Given the description of an element on the screen output the (x, y) to click on. 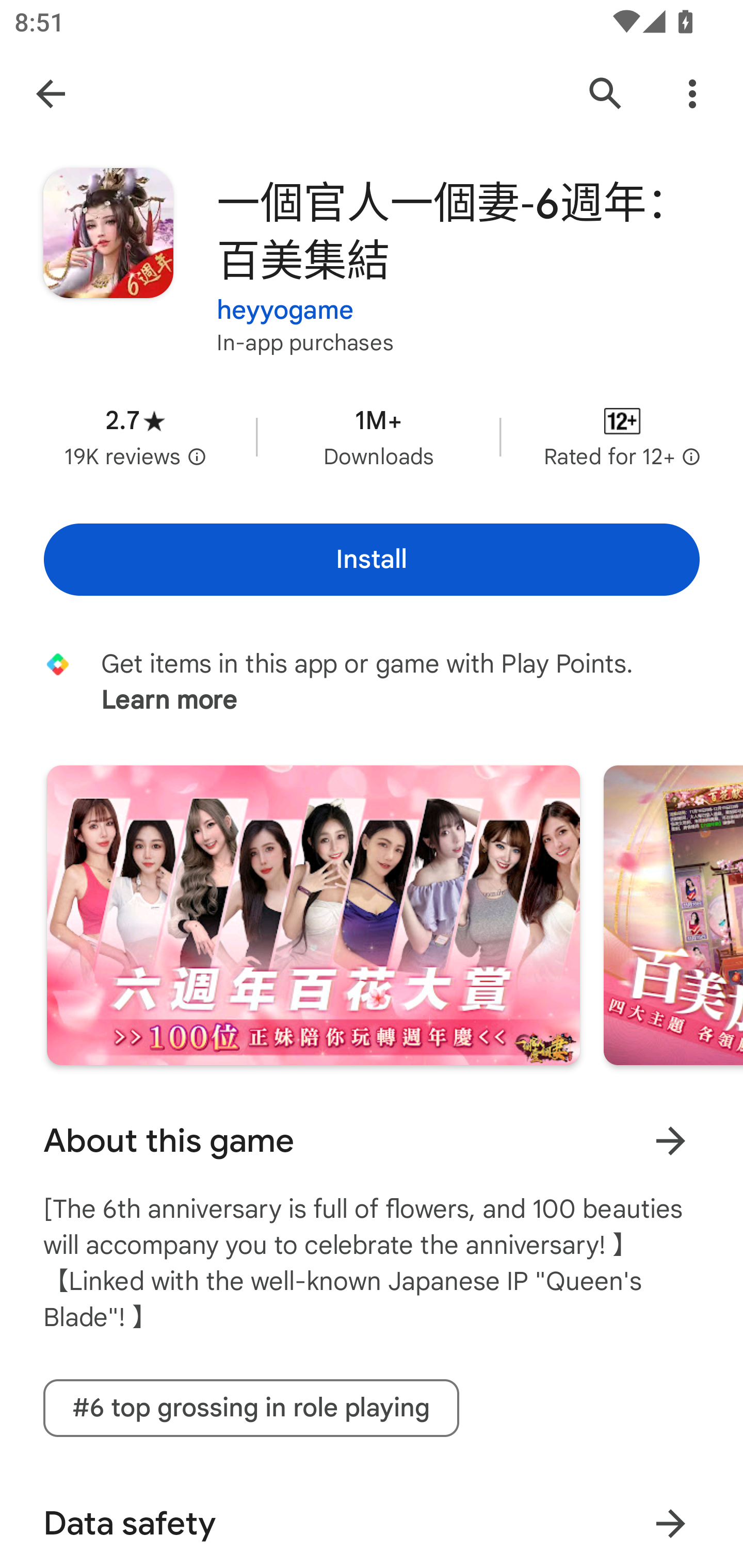
Navigate up (50, 93)
Search Google Play (605, 93)
More Options (692, 93)
heyyogame (284, 297)
Average rating 2.7 stars in 19 thousand reviews (135, 436)
Content rating Rated for 12+ (622, 436)
Install (371, 559)
Screenshot "1" of "5" (313, 914)
About this game Learn more About this game (371, 1140)
Learn more About this game (670, 1140)
#6 top grossing in role playing tag (251, 1407)
Data safety Learn more about data safety (371, 1520)
Learn more about data safety (670, 1523)
